Given the description of an element on the screen output the (x, y) to click on. 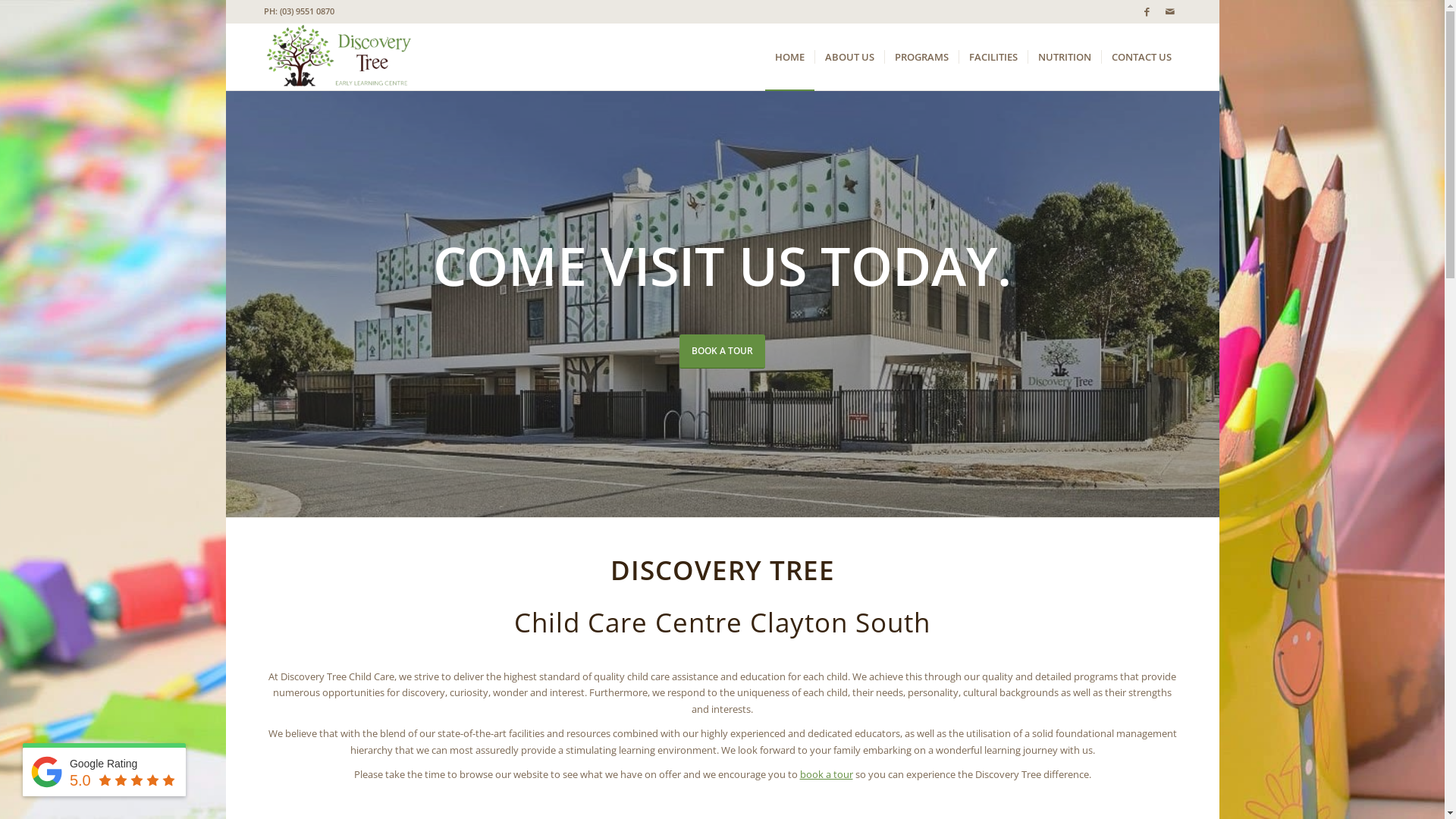
Facebook Element type: hover (1146, 11)
ABOUT US Element type: text (849, 56)
Mail Element type: hover (1169, 11)
childcare-bentleigh-banner-2 Element type: hover (722, 303)
PROGRAMS Element type: text (921, 56)
PH: (03) 9551 0870 Element type: text (298, 10)
FACILITIES Element type: text (992, 56)
book a tour Element type: text (825, 774)
NUTRITION Element type: text (1063, 56)
BOOK A TOUR Element type: text (722, 351)
HOME Element type: text (788, 56)
CONTACT US Element type: text (1141, 56)
